Given the description of an element on the screen output the (x, y) to click on. 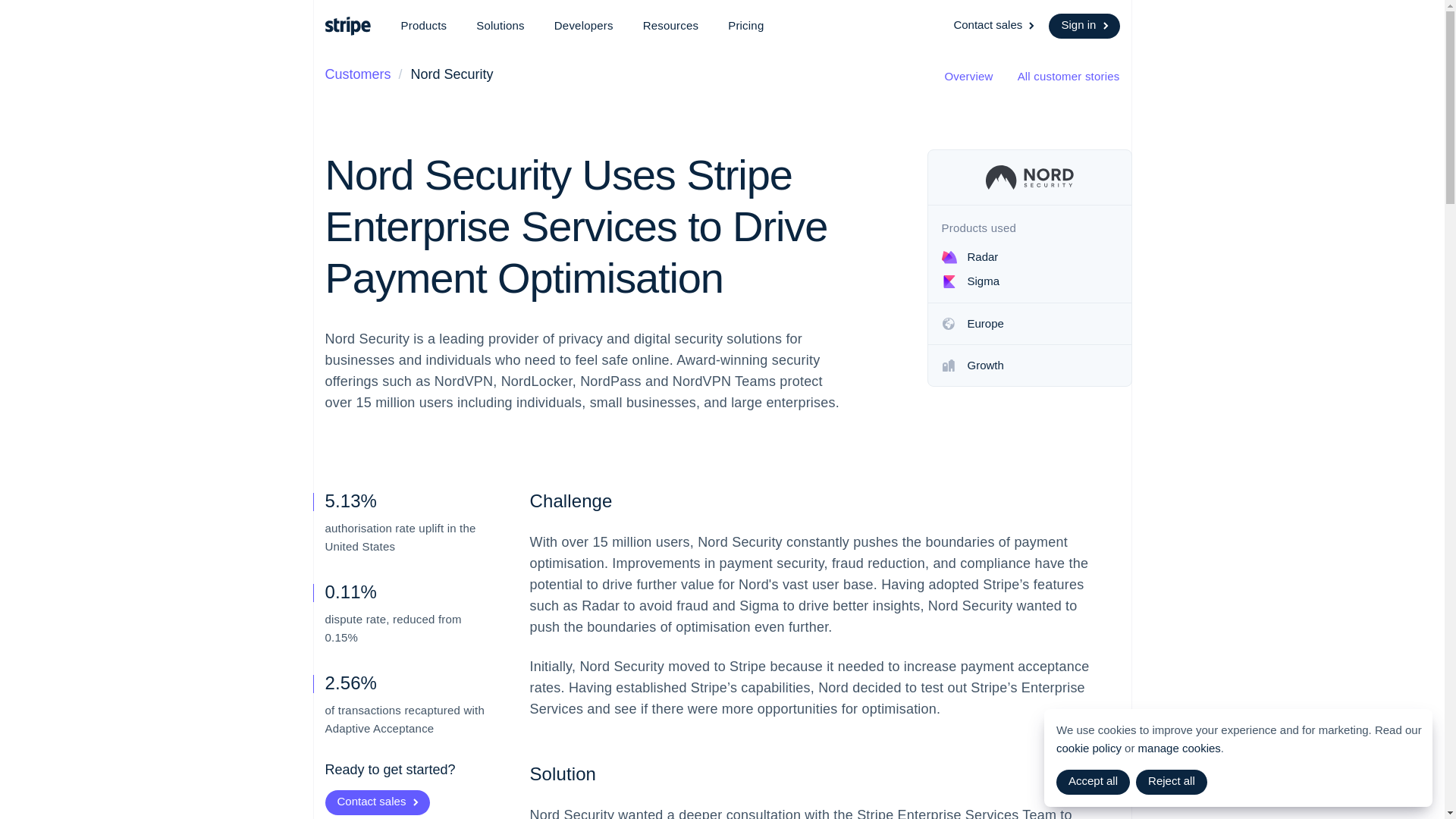
Sign in  (1083, 25)
Pricing (745, 25)
Developers (583, 25)
Solutions (500, 25)
Products (423, 25)
Contact sales  (994, 25)
Resources (670, 25)
